Given the description of an element on the screen output the (x, y) to click on. 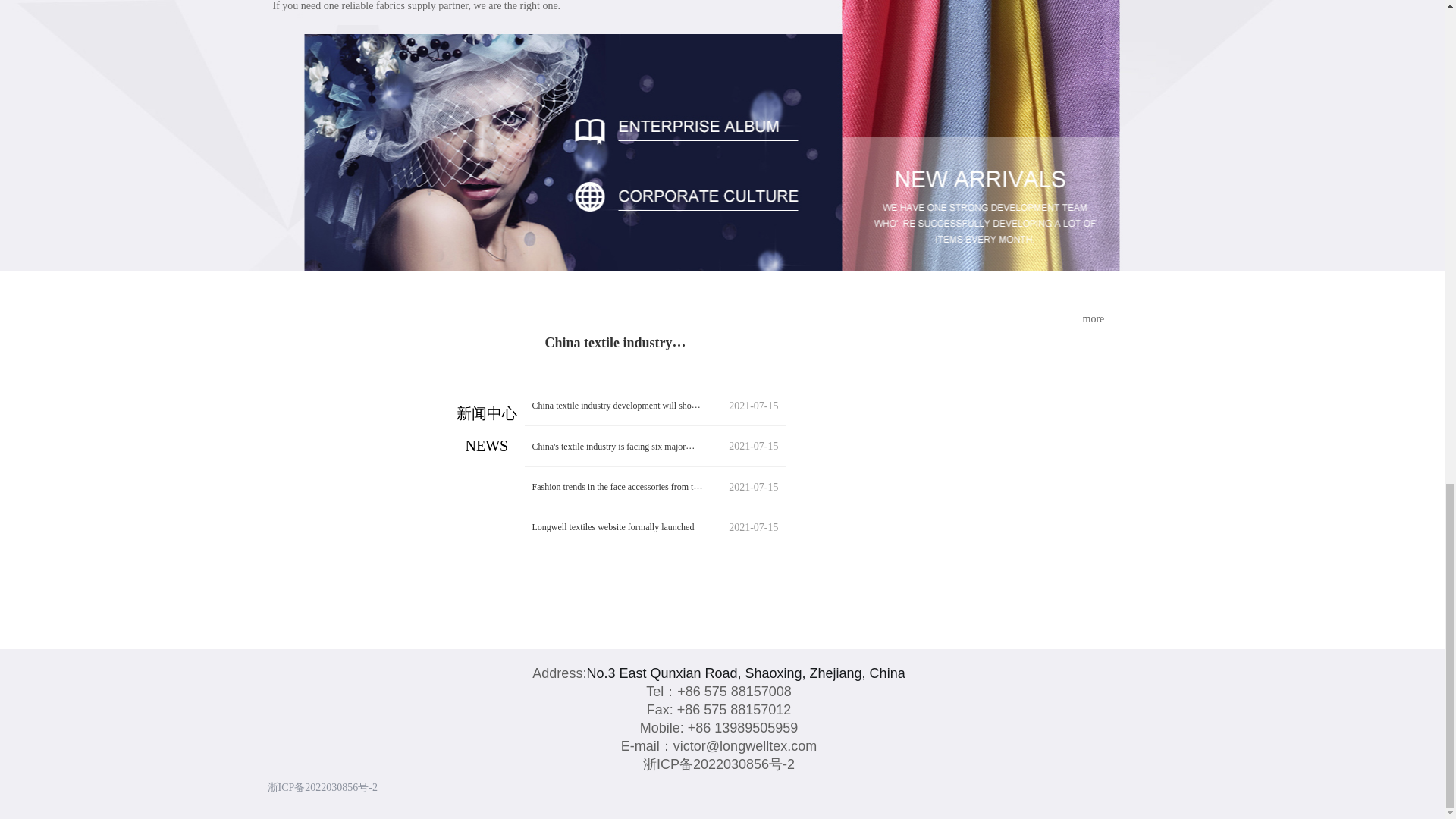
Longwell textiles website formally launched (619, 526)
Longwell textiles website formally launched (619, 526)
